Given the description of an element on the screen output the (x, y) to click on. 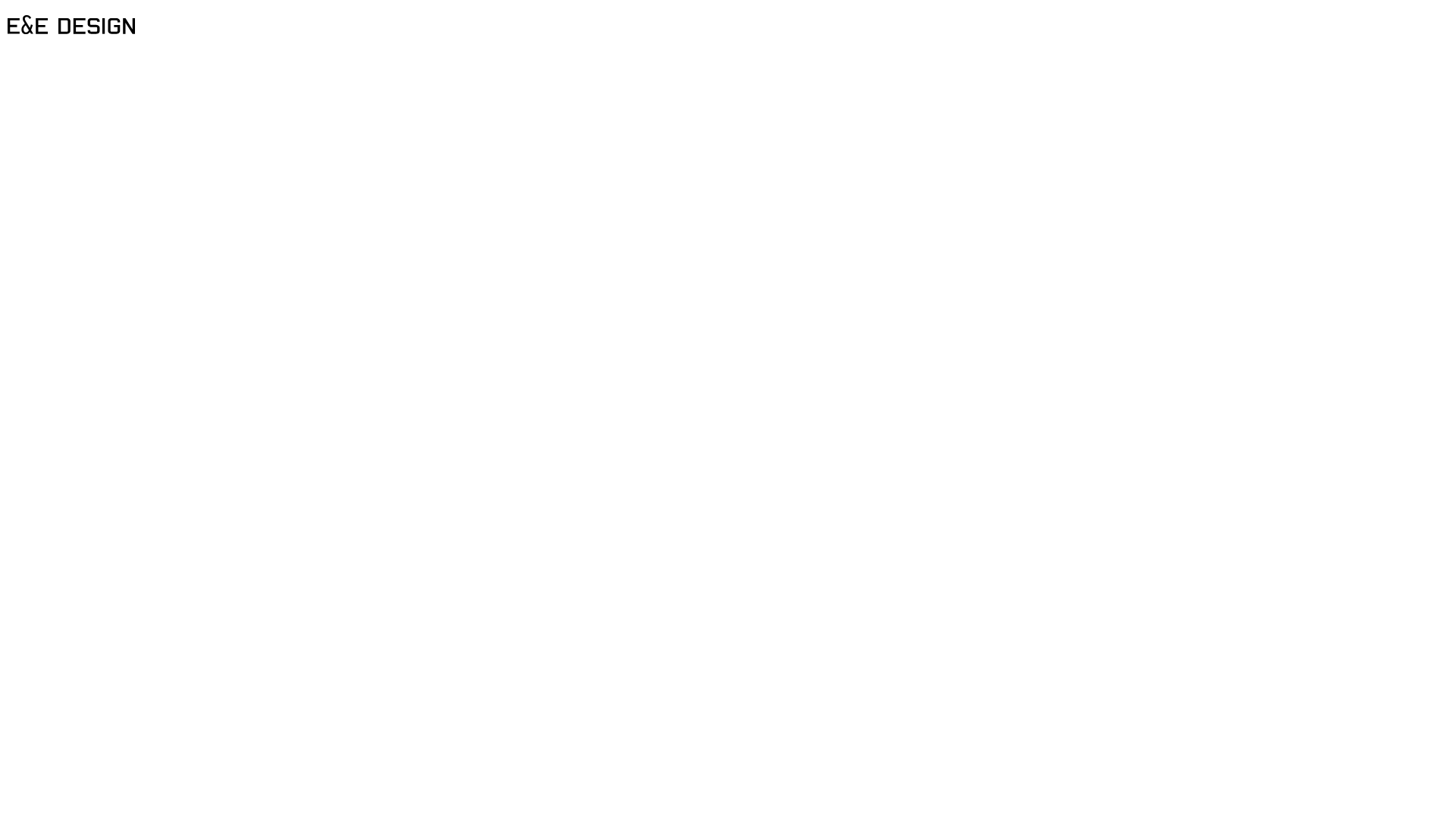
Work Element type: text (727, 17)
About Element type: text (727, 51)
info@eandedesign.com.au Element type: text (100, 84)
